Given the description of an element on the screen output the (x, y) to click on. 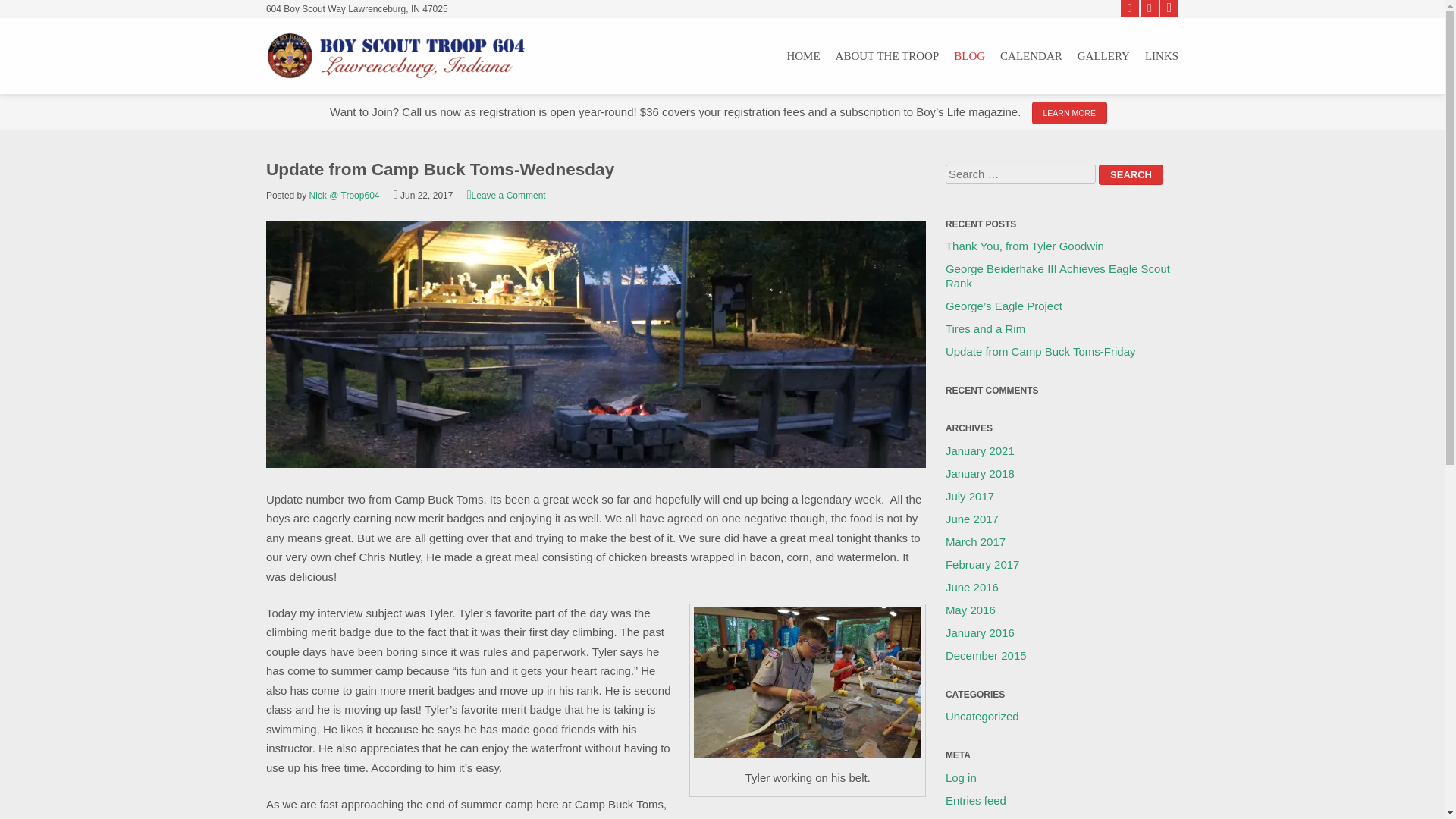
Leave a Comment (506, 195)
LEARN MORE (1069, 112)
HOME (802, 56)
LINKS (1160, 56)
GALLERY (1103, 56)
CALENDAR (1031, 56)
ABOUT THE TROOP (887, 56)
BLOG (969, 56)
Search (1131, 174)
